Given the description of an element on the screen output the (x, y) to click on. 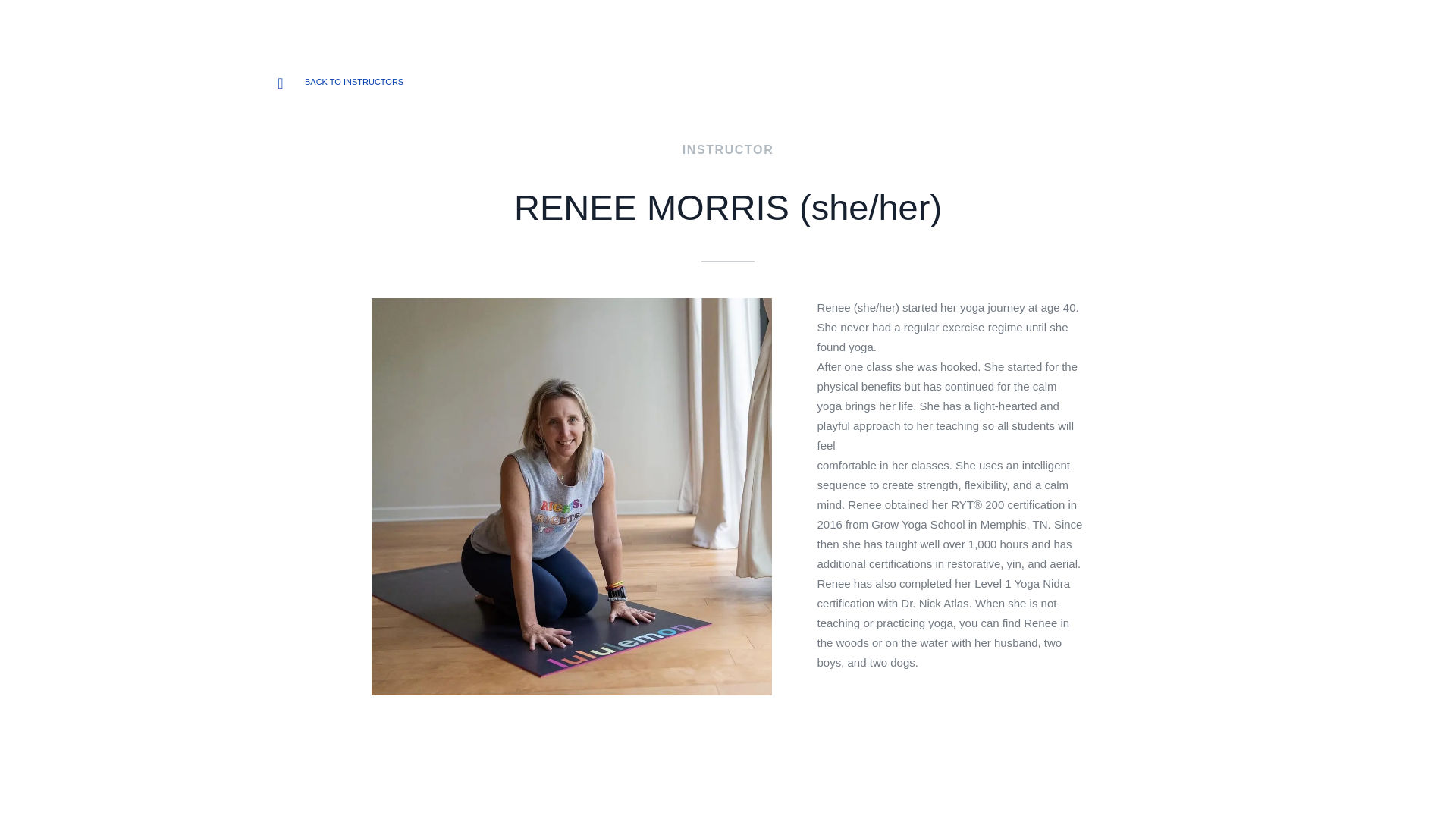
BACK TO INSTRUCTORS (353, 81)
